Given the description of an element on the screen output the (x, y) to click on. 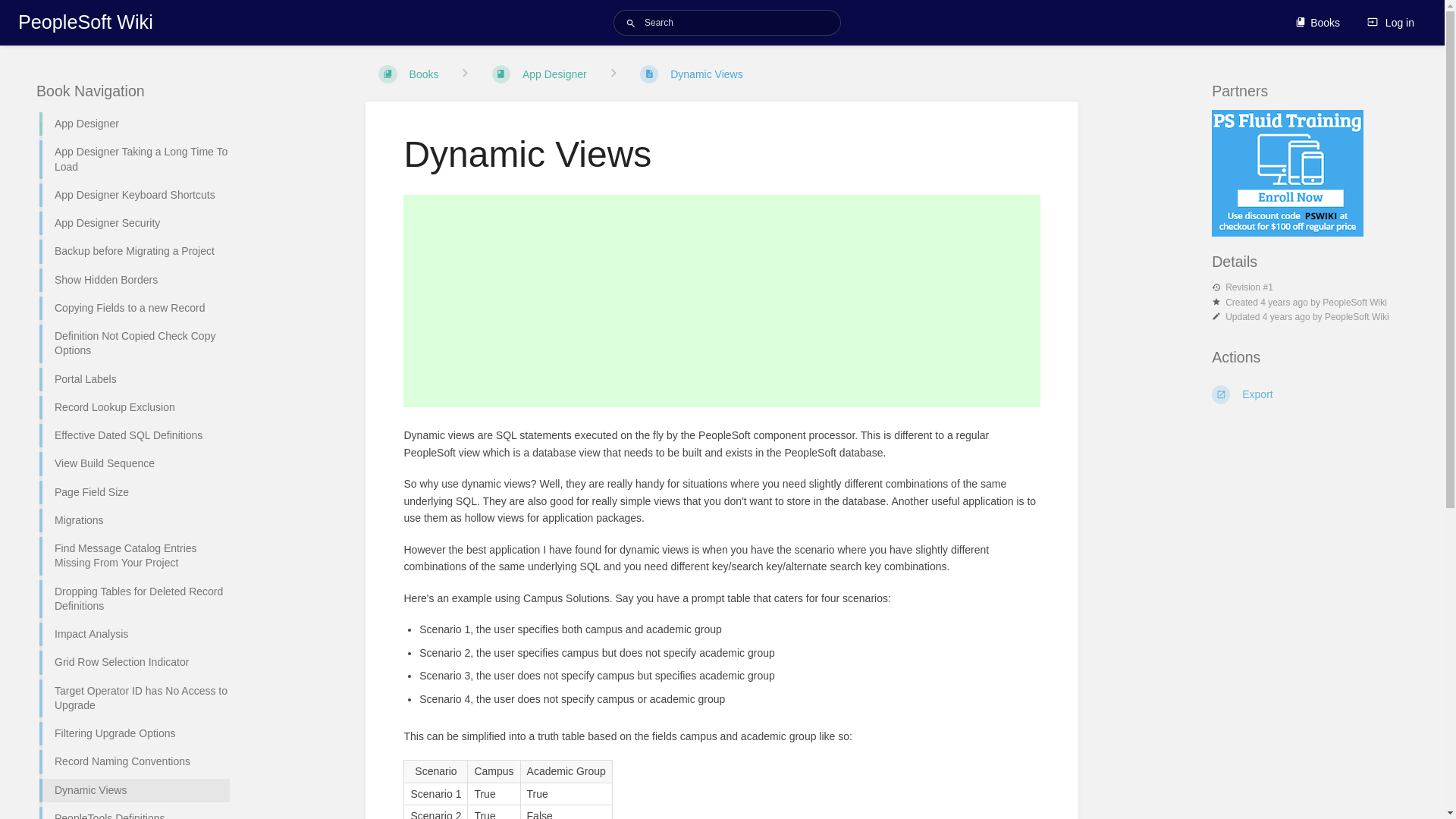
App Designer Taking a Long Time To Load (134, 159)
Show Hidden Borders (134, 280)
Portal Labels (134, 379)
Record Lookup Exclusion (134, 407)
Filtering Upgrade Options (134, 733)
Record Naming Conventions (134, 761)
Definition Not Copied Check Copy Options (134, 343)
Log in (1390, 22)
Find Message Catalog Entries Missing From Your Project (134, 556)
App Designer Keyboard Shortcuts (134, 194)
Effective Dated SQL Definitions (134, 435)
Page Field Size (134, 492)
Impact Analysis (134, 633)
View Build Sequence (134, 463)
